Given the description of an element on the screen output the (x, y) to click on. 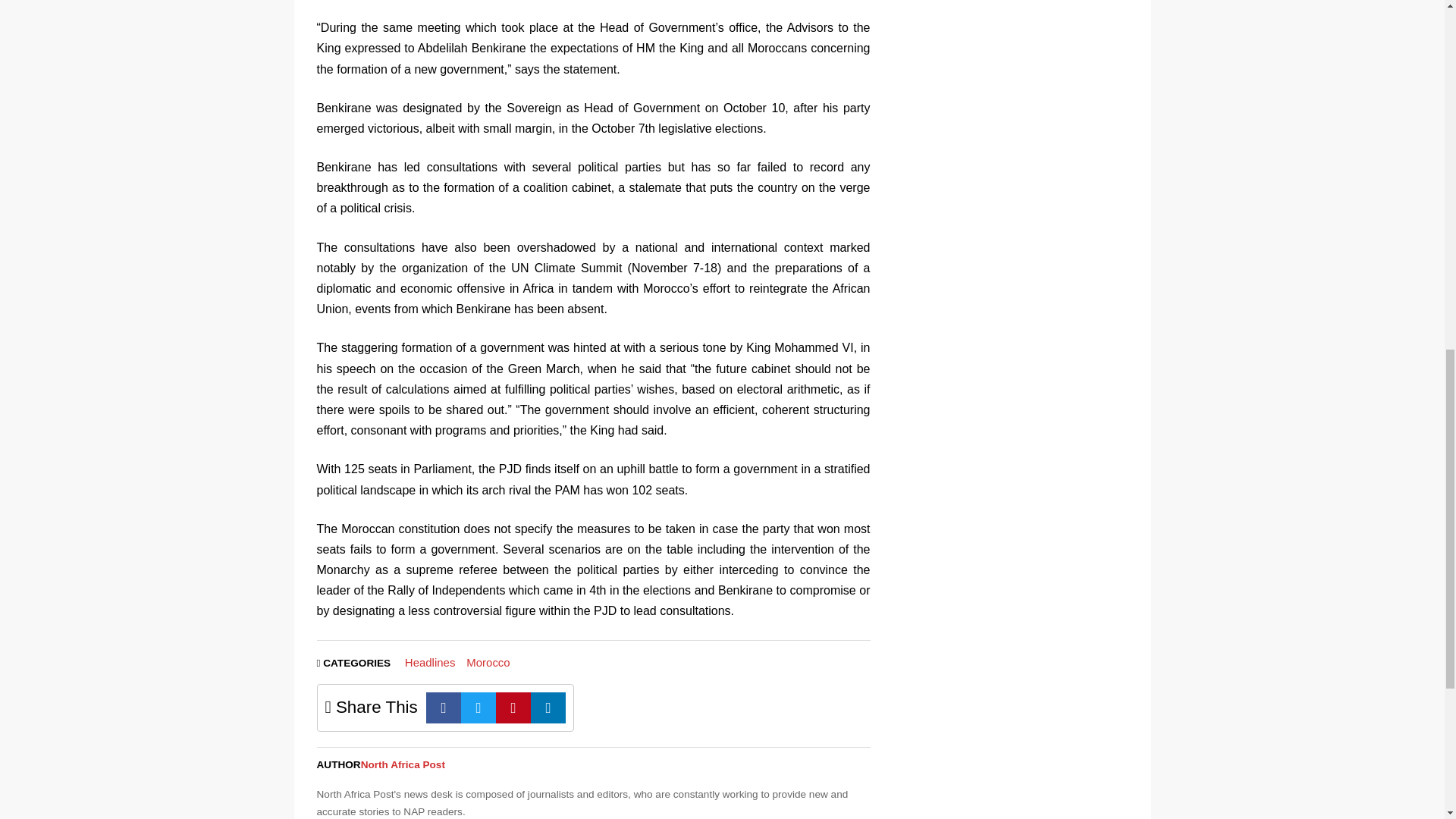
Facebook (443, 707)
Twitter (478, 707)
Linkedin (548, 707)
Pinterest (513, 707)
